Given the description of an element on the screen output the (x, y) to click on. 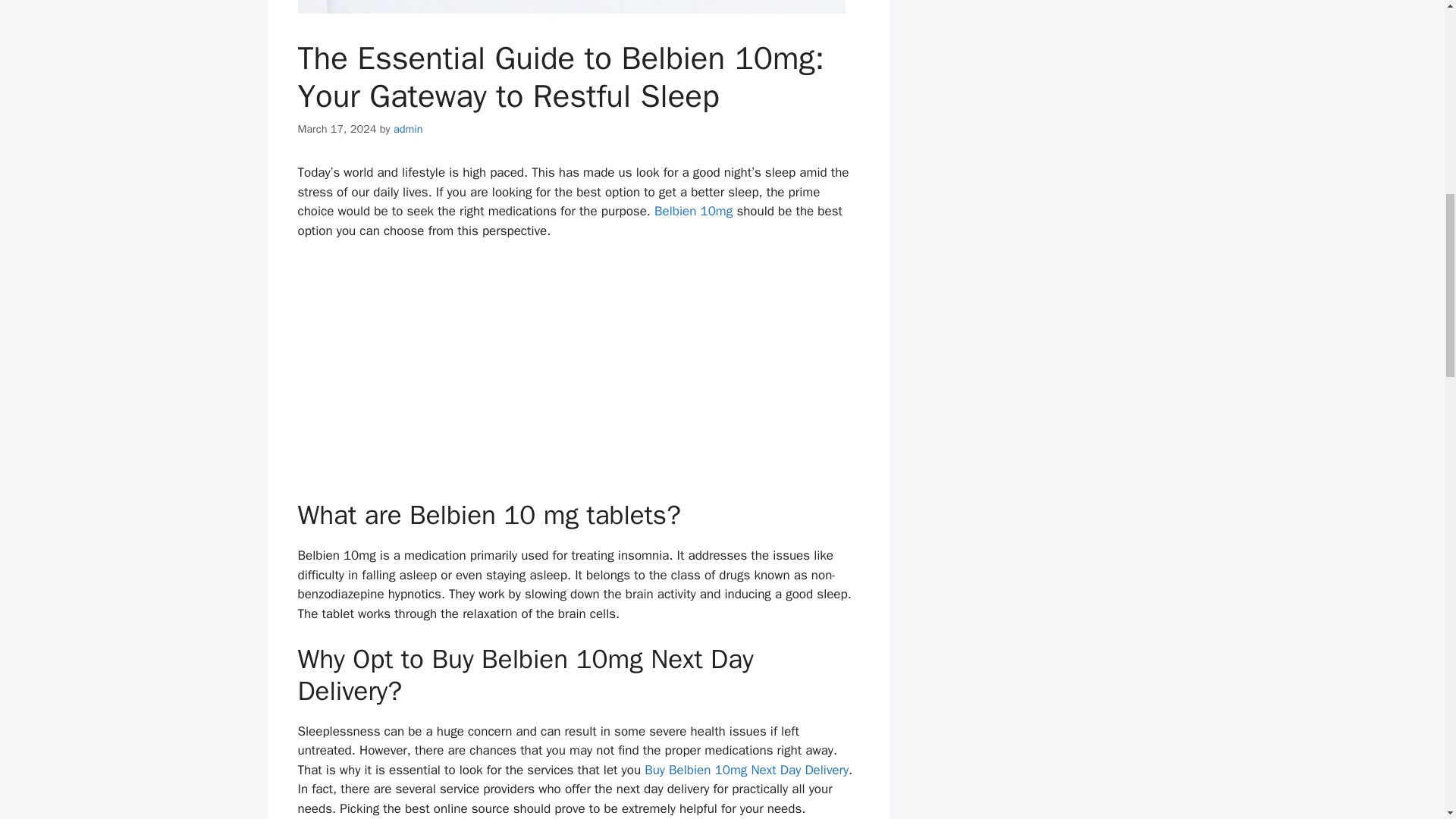
Belbien 10mg (692, 211)
Buy Belbien 10mg Next Day Delivery (746, 770)
View all posts by admin (408, 128)
admin (408, 128)
